Given the description of an element on the screen output the (x, y) to click on. 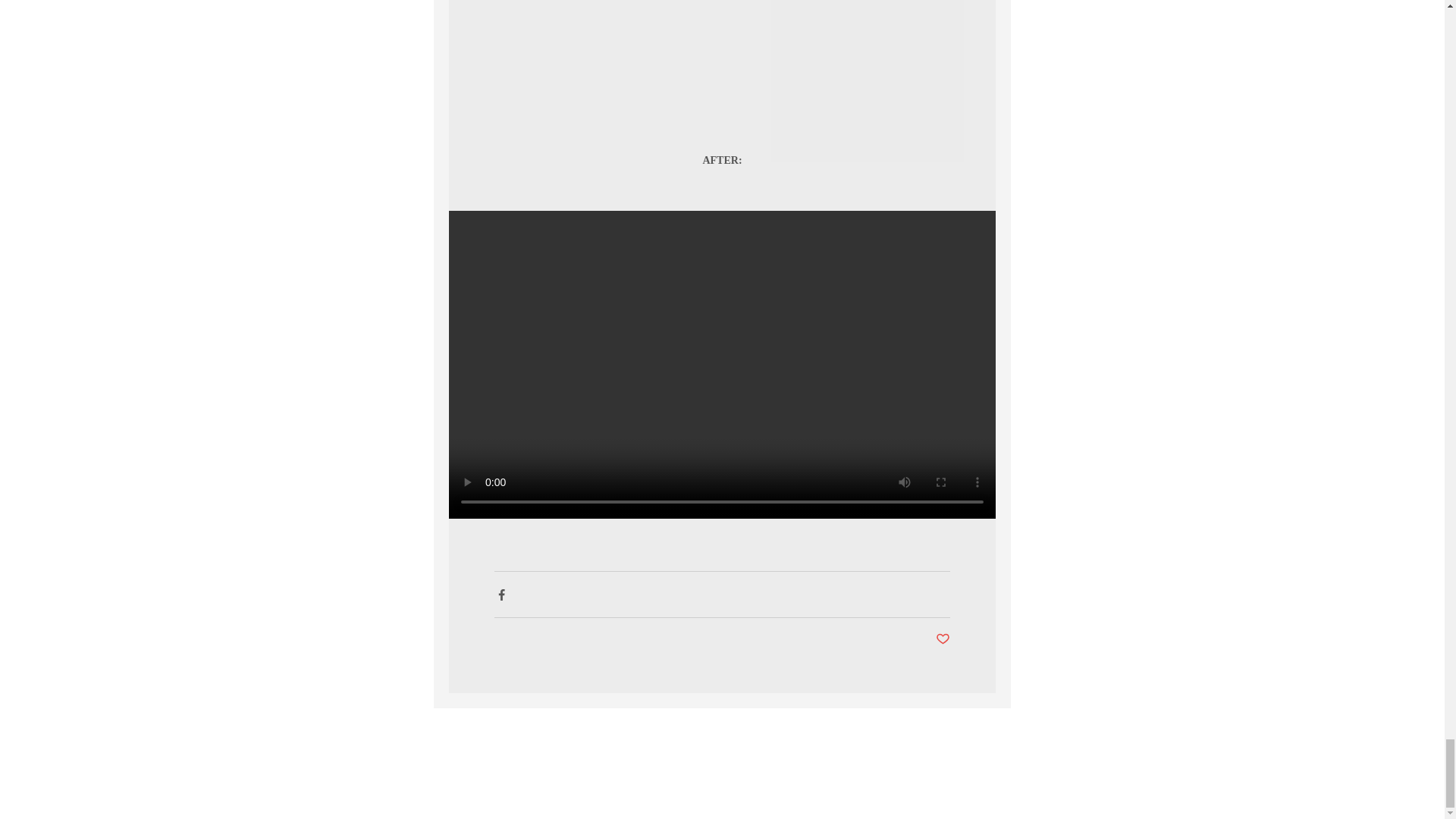
Post not marked as liked (943, 639)
